Given the description of an element on the screen output the (x, y) to click on. 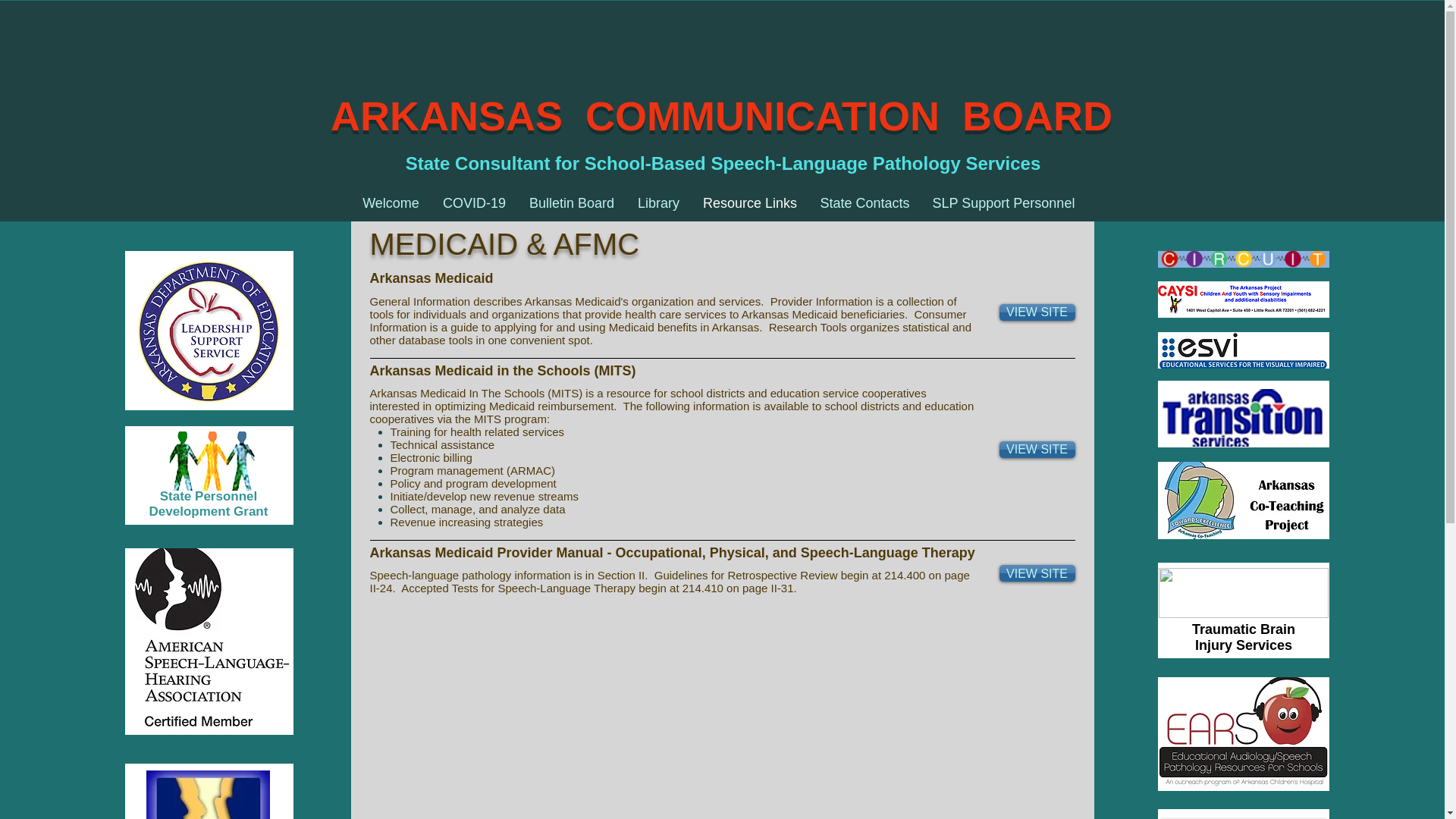
COVID-19 (473, 203)
Arkansas Transition Services logo (1242, 417)
CIRCUIT logo (1242, 258)
Resource Links (750, 203)
ArkSHA logo (207, 794)
Arkansas Co-Teaching Project logo (1242, 499)
ASHA logo (207, 640)
Welcome (390, 203)
SPDG logo (210, 460)
State Contacts (864, 203)
Arkansas Department of Education logo (207, 330)
ESVI logo (1242, 350)
Bulletin Board (571, 203)
Library (658, 203)
AR-SERC logo (1242, 593)
